Given the description of an element on the screen output the (x, y) to click on. 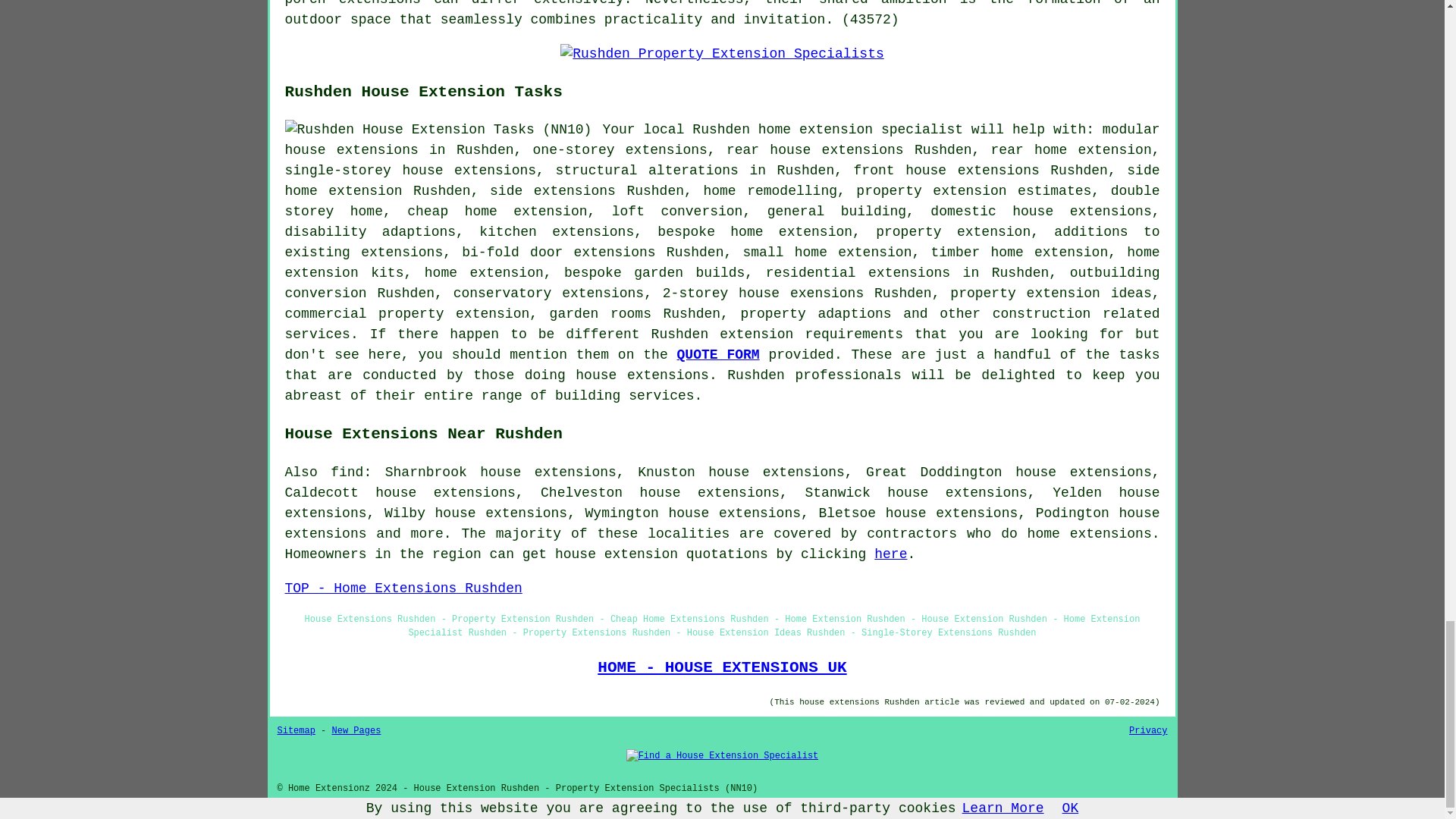
Rushden home extension specialist (827, 129)
construction (1041, 313)
cheap home extension (496, 211)
side extensions (552, 191)
